Given the description of an element on the screen output the (x, y) to click on. 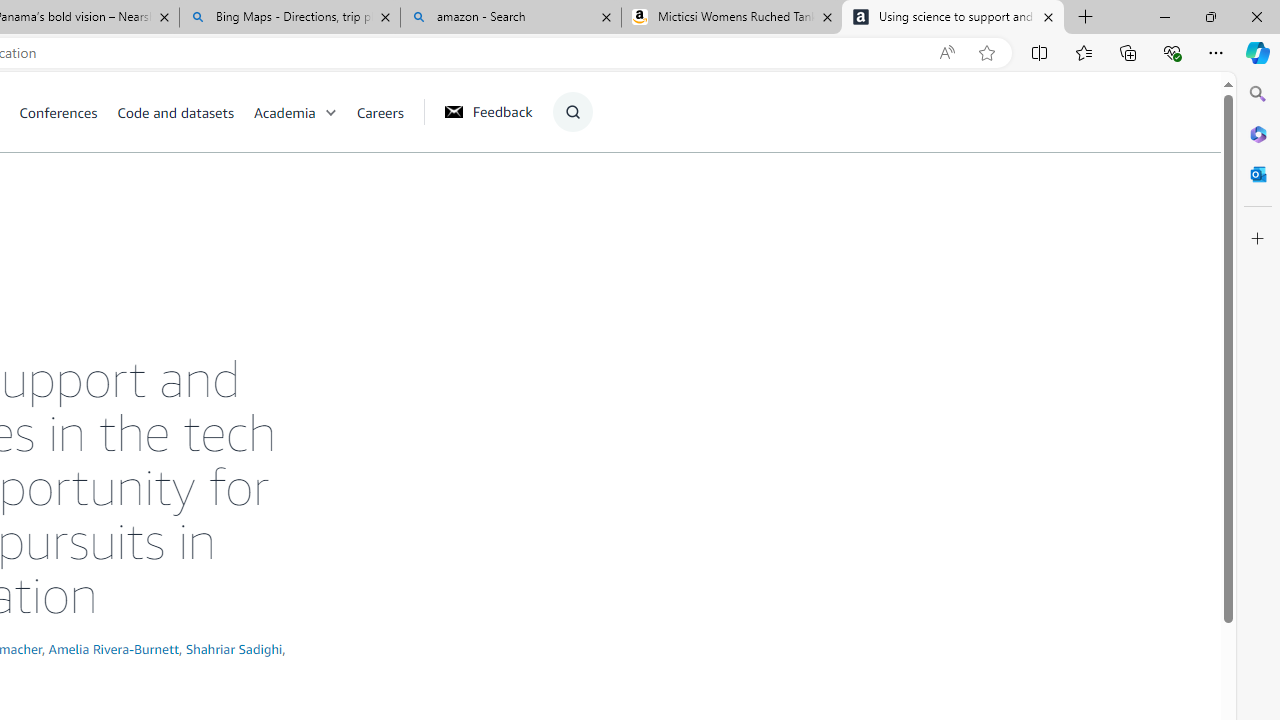
Outlook (1258, 174)
amazon - Search (510, 17)
